Given the description of an element on the screen output the (x, y) to click on. 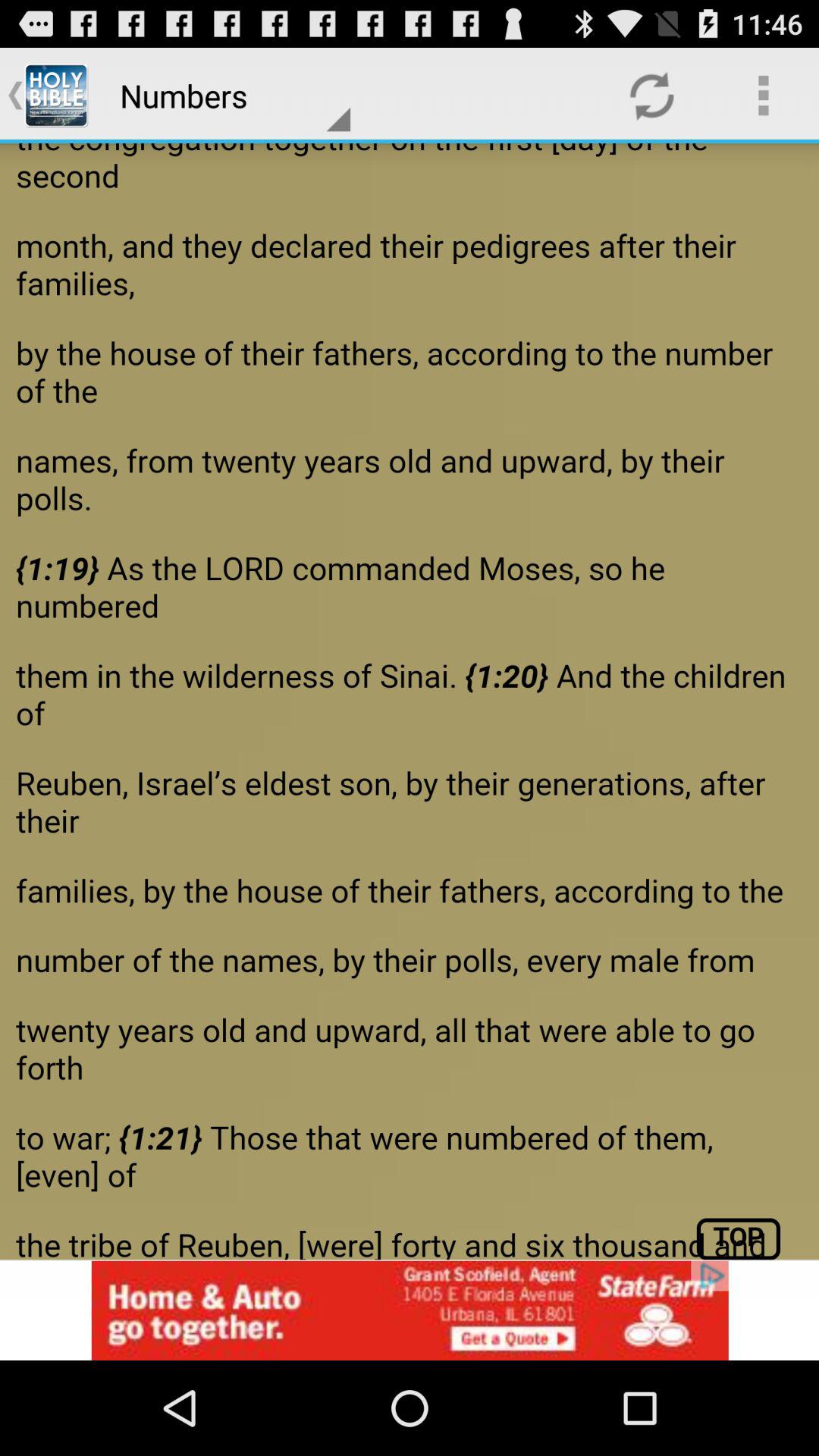
advertisement (409, 1310)
